Given the description of an element on the screen output the (x, y) to click on. 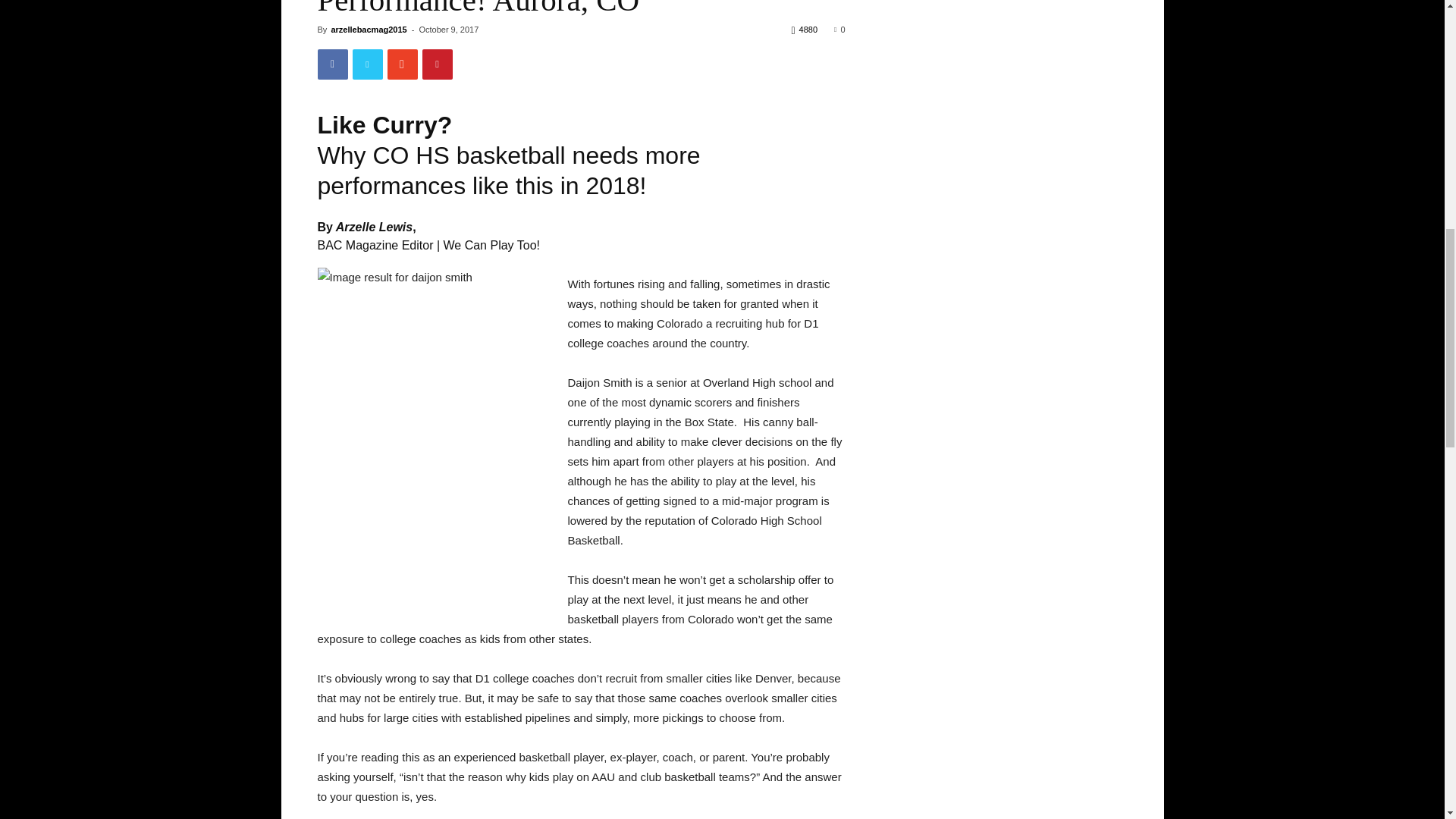
arzellebacmag2015 (368, 29)
0 (839, 29)
